Given the description of an element on the screen output the (x, y) to click on. 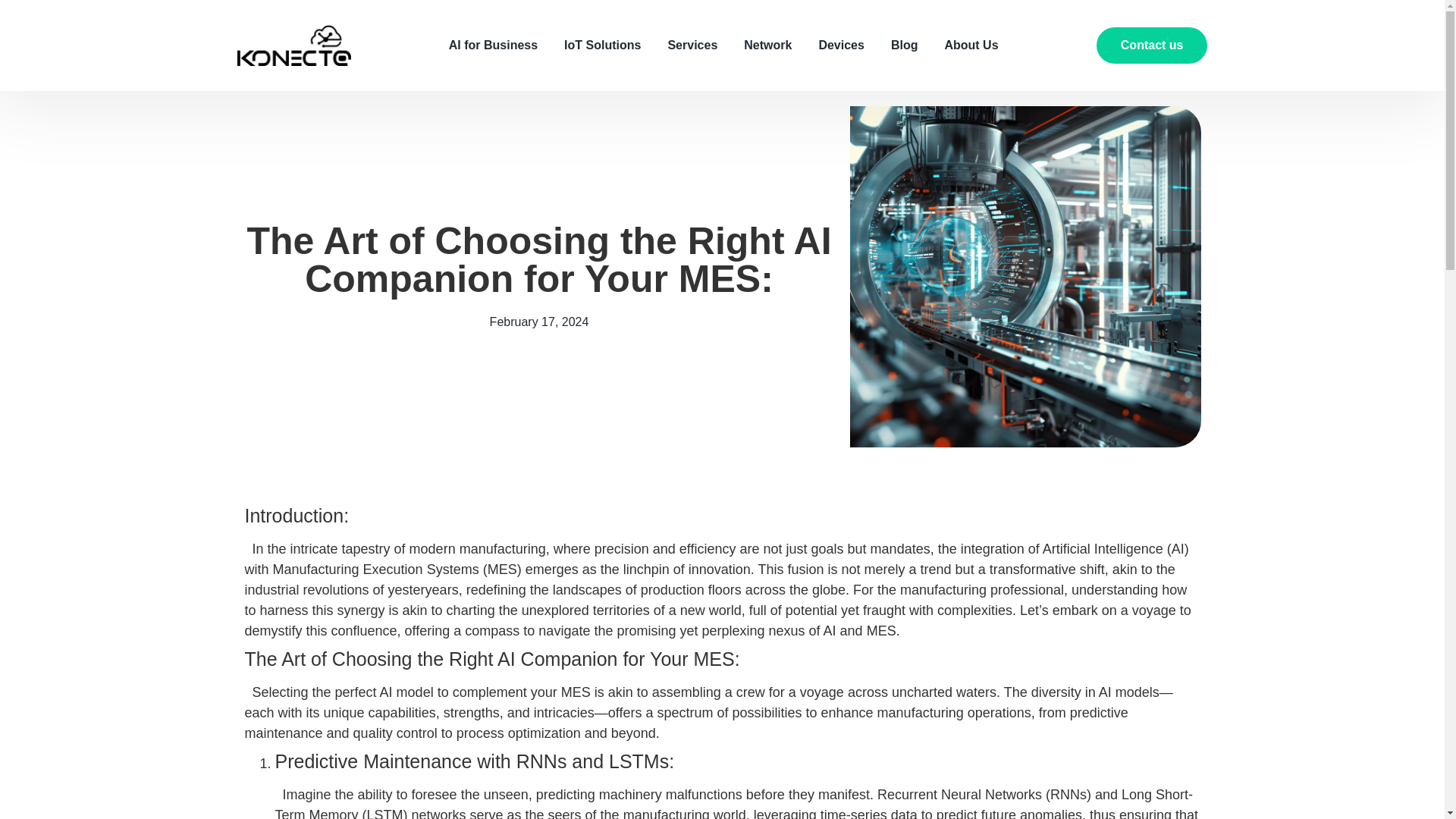
AI for Business (492, 45)
Devices (841, 45)
About Us (970, 45)
Network (768, 45)
logo-white (292, 45)
Services (691, 45)
IoT Solutions (602, 45)
Contact us (1152, 45)
